Given the description of an element on the screen output the (x, y) to click on. 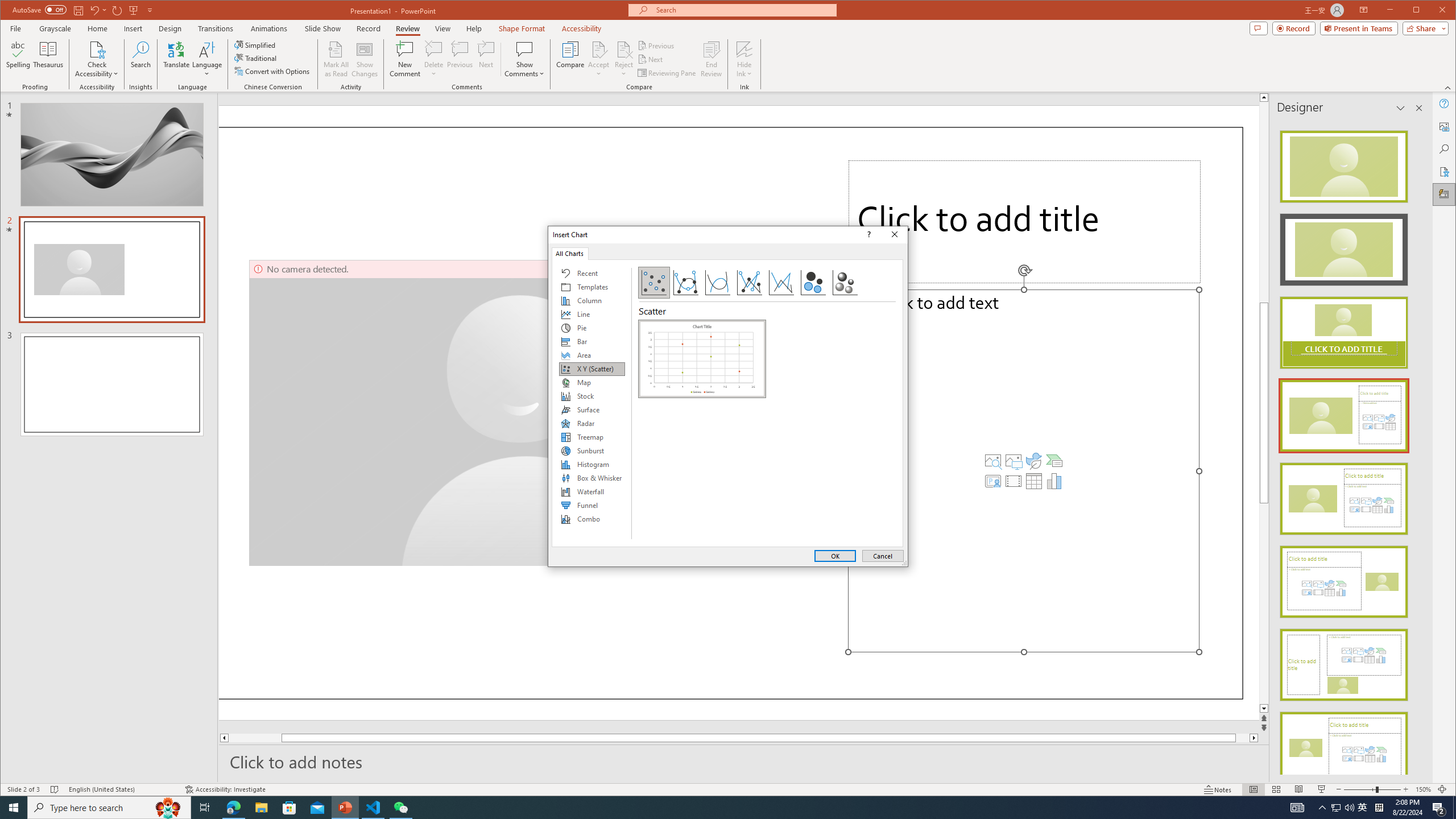
Accept (598, 59)
Scatter with Smooth Lines and Markers (685, 282)
Designer (1444, 194)
Shape Format (521, 28)
Show desktop (1454, 807)
Recent (591, 273)
Task View (204, 807)
Funnel (591, 505)
